Given the description of an element on the screen output the (x, y) to click on. 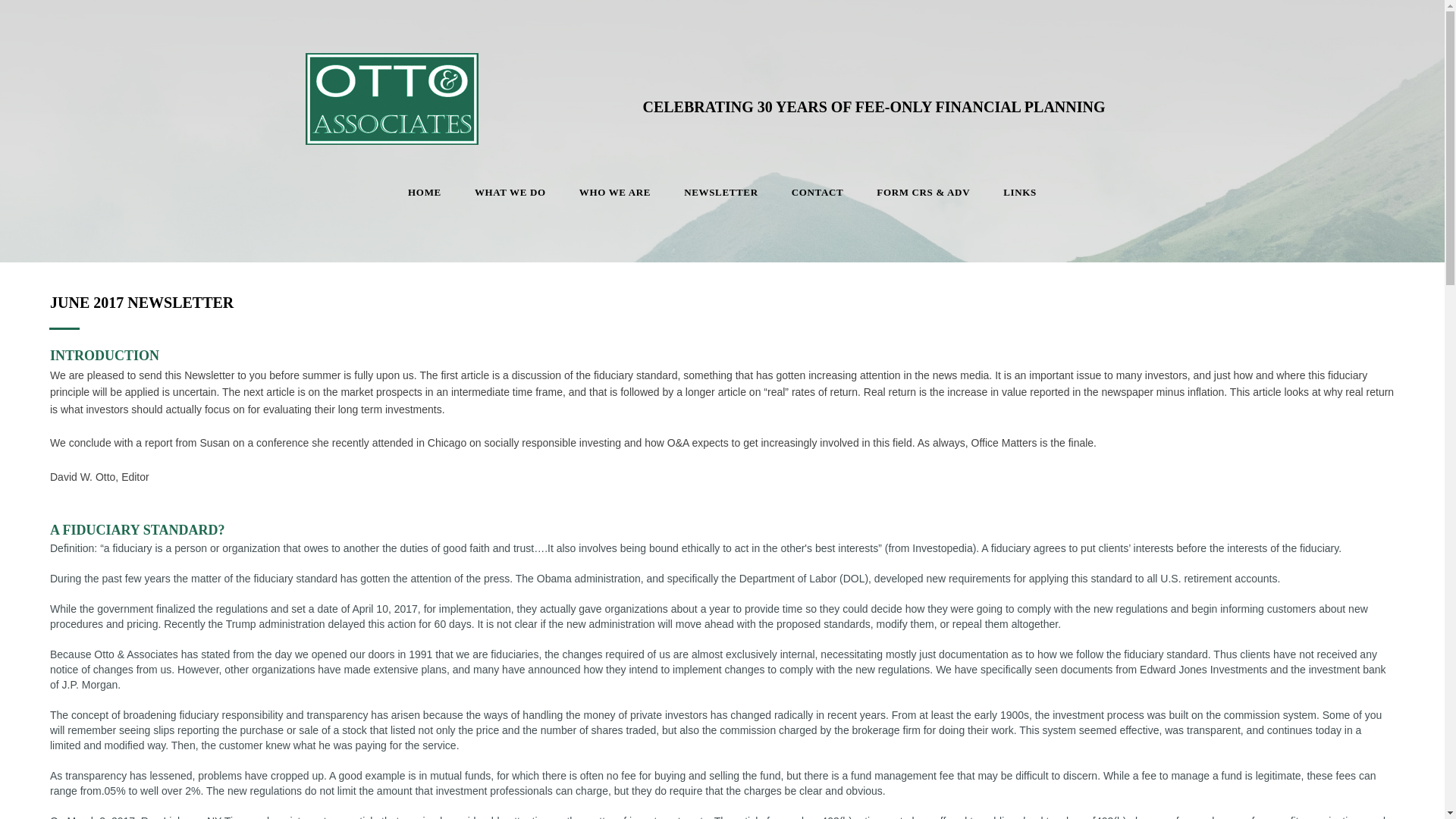
WHO WE ARE (614, 192)
NEWSLETTER (720, 192)
LINKS (1019, 192)
CONTACT (817, 192)
WHAT WE DO (510, 192)
HOME (424, 192)
